Given the description of an element on the screen output the (x, y) to click on. 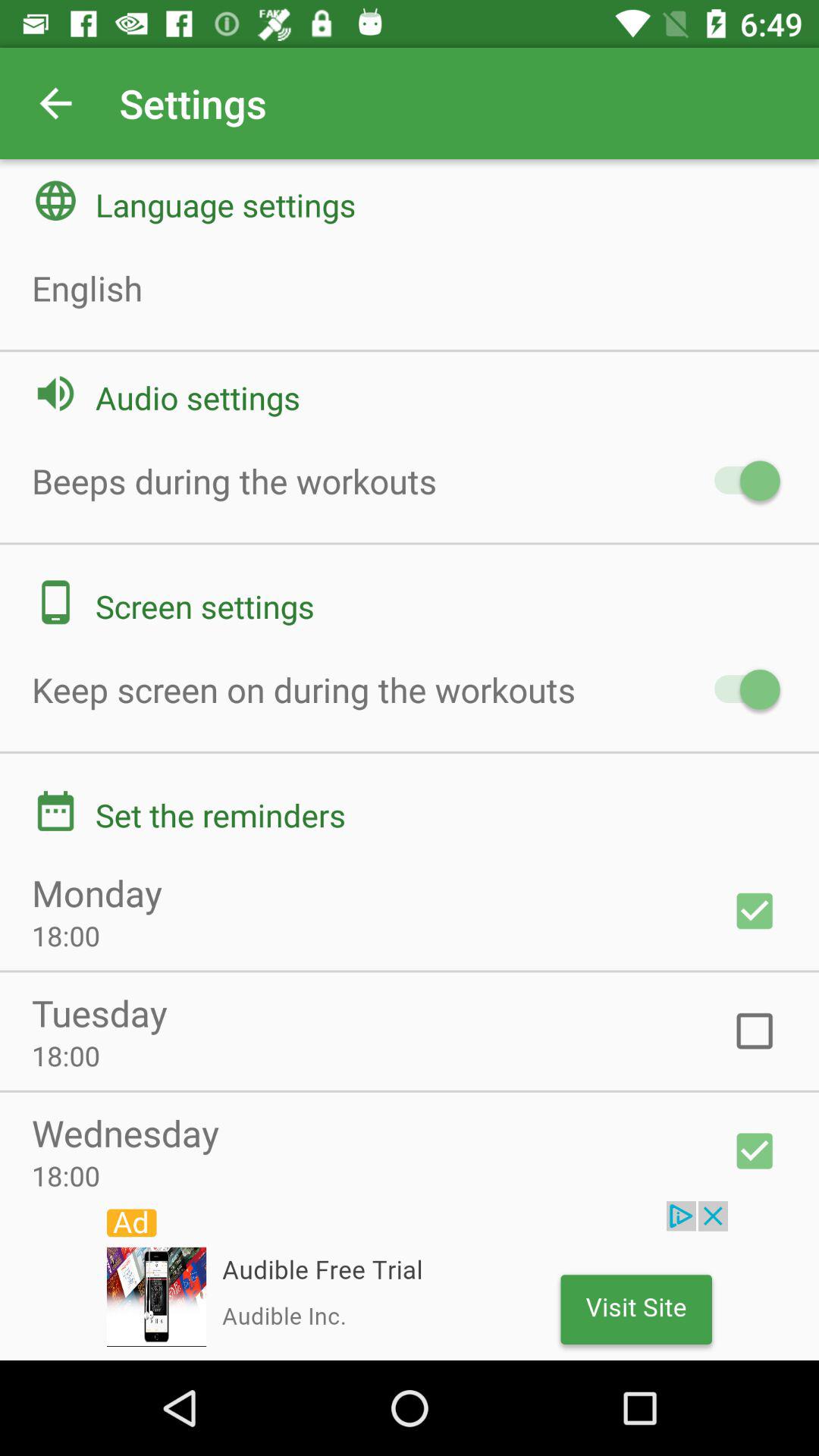
auto play (739, 480)
